Given the description of an element on the screen output the (x, y) to click on. 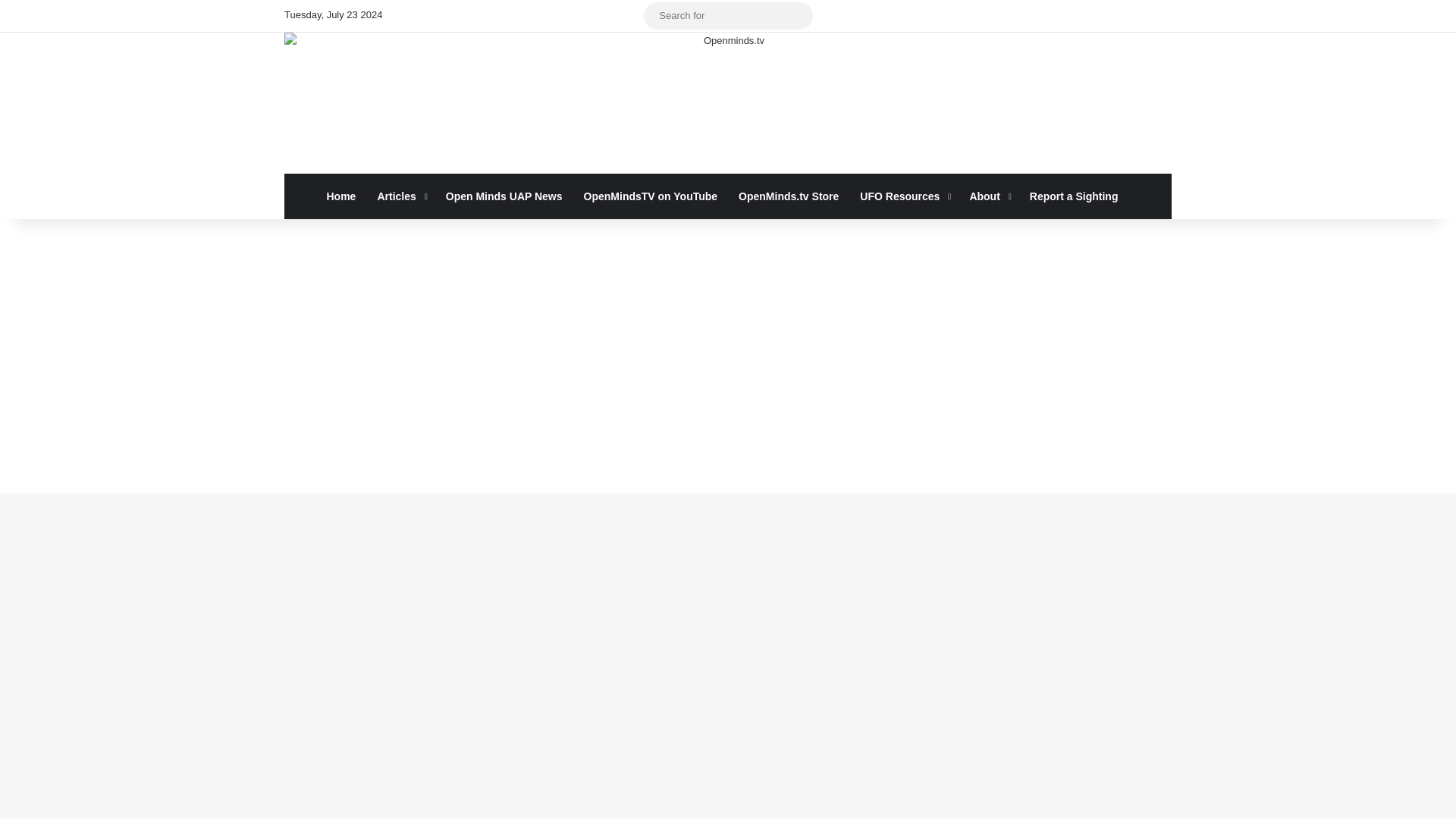
Facebook (404, 15)
RSS (586, 15)
X (427, 15)
Random Article (609, 15)
About (987, 196)
Patreon (564, 15)
Random Article (609, 15)
Spotify (517, 15)
UFO Resources (903, 196)
Sidebar (632, 15)
OpenMinds.tv Store (788, 196)
Home (340, 196)
YouTube (472, 15)
OpenMindsTV on YouTube (651, 196)
TikTok (541, 15)
